Given the description of an element on the screen output the (x, y) to click on. 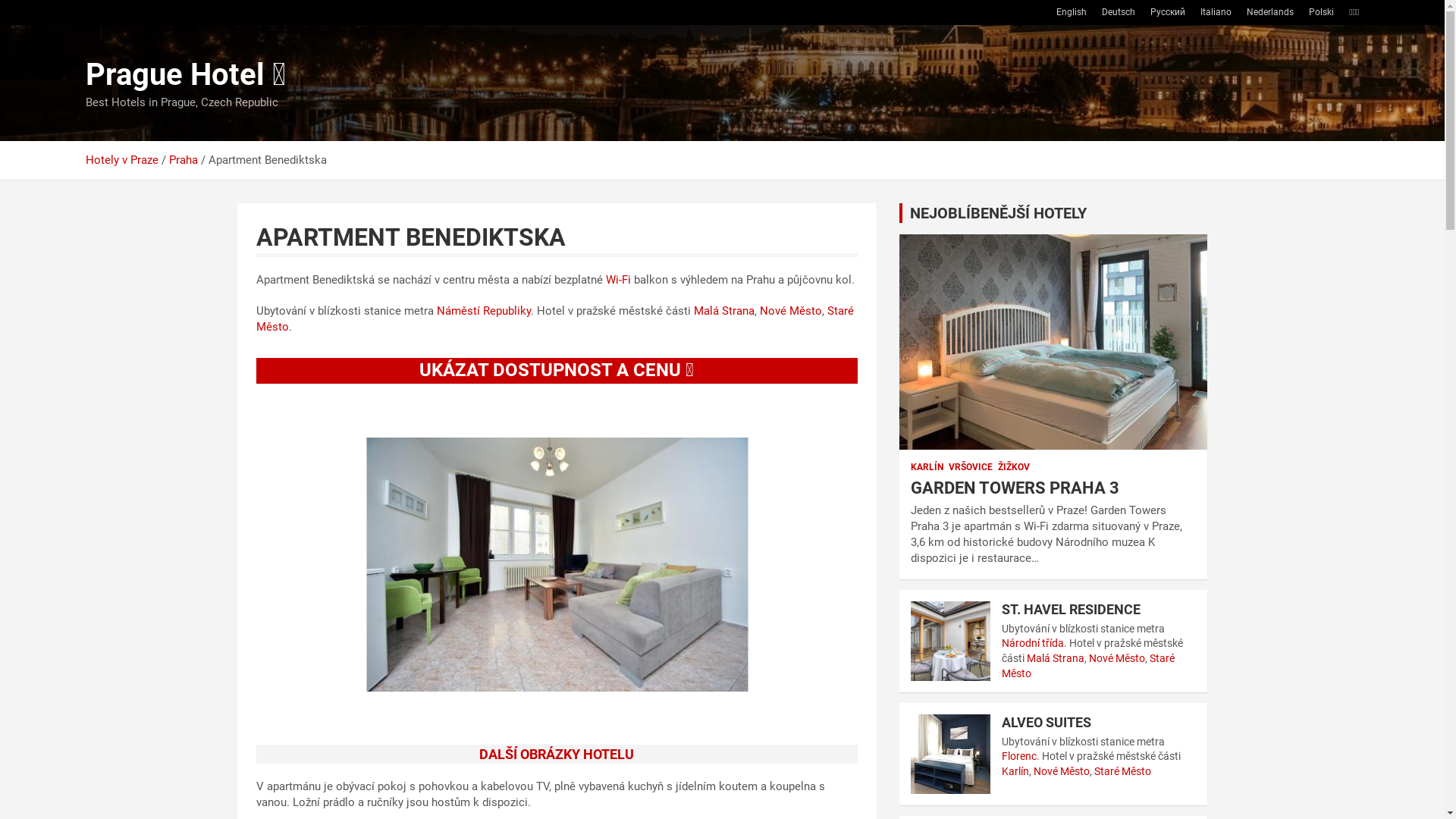
Deutsch Element type: text (1118, 12)
ALVEO SUITES Element type: text (1046, 722)
Italiano Element type: text (1215, 12)
GARDEN TOWERS PRAHA 3 Element type: text (1014, 487)
Skip to content Element type: text (0, 0)
Praha Element type: text (182, 159)
Wi-Fi Element type: text (617, 279)
Hotely v Praze Element type: text (120, 159)
Florenc Element type: text (1018, 755)
Nederlands Element type: text (1269, 12)
English Element type: text (1071, 12)
Polski Element type: text (1320, 12)
ST. HAVEL RESIDENCE Element type: text (1070, 609)
